Given the description of an element on the screen output the (x, y) to click on. 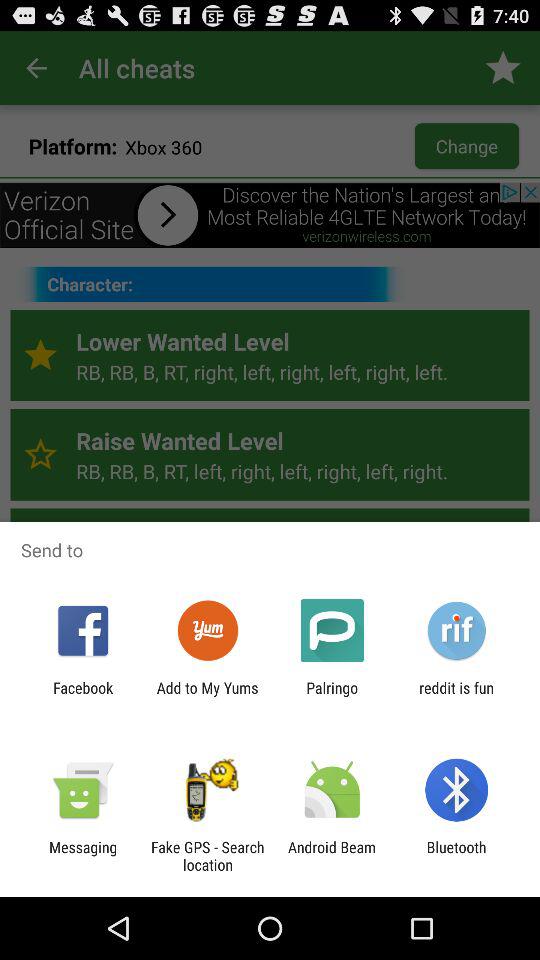
press the app to the right of add to my (332, 696)
